Given the description of an element on the screen output the (x, y) to click on. 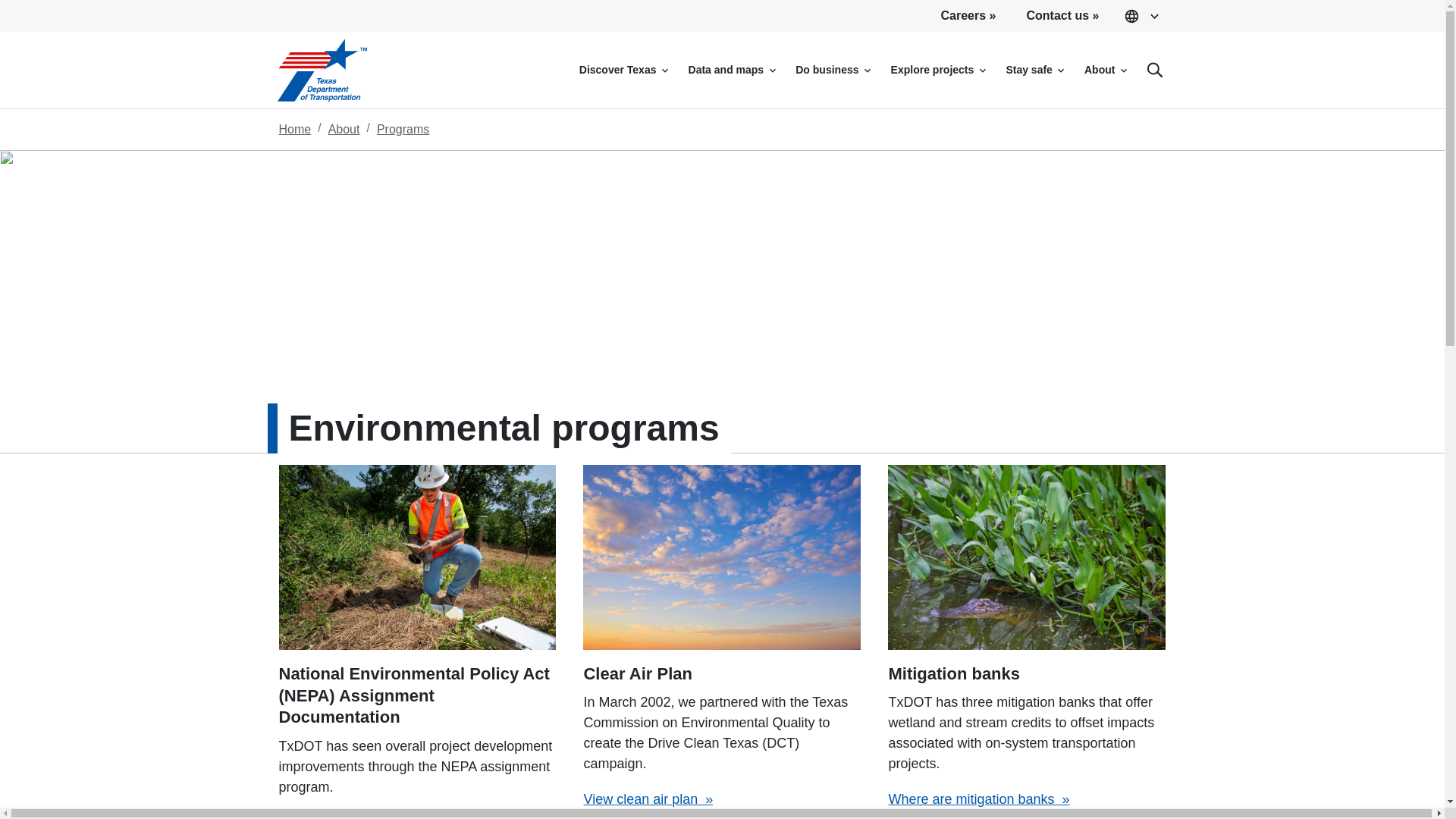
Discover Texas (623, 69)
Contact us (1061, 15)
Stay safe (1034, 69)
Explore projects (937, 69)
Data and maps (732, 69)
About (1105, 69)
Careers (968, 15)
Do business (832, 69)
